Given the description of an element on the screen output the (x, y) to click on. 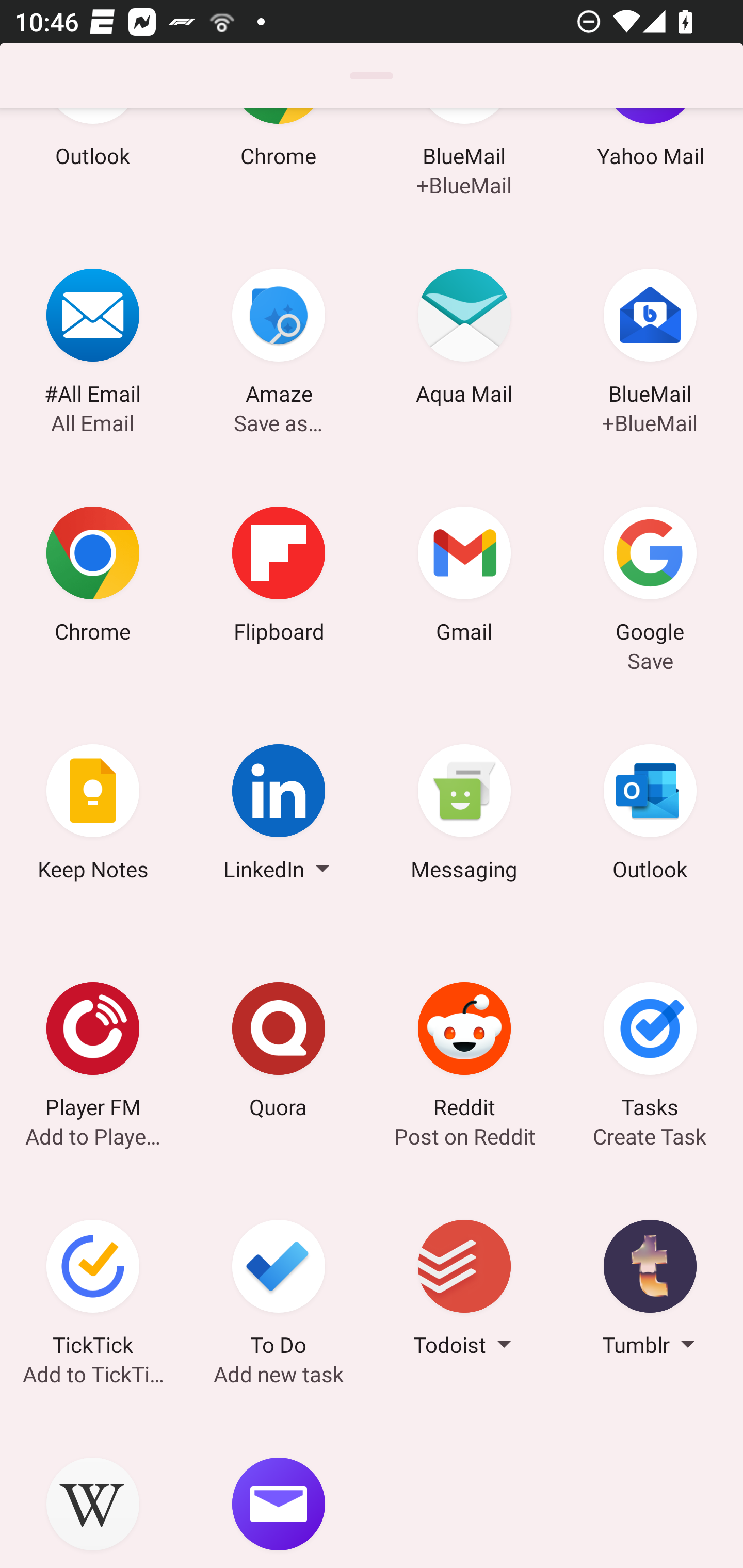
#All Email All Email (92, 340)
Amaze Save as… (278, 340)
Aqua Mail (464, 340)
BlueMail +BlueMail (650, 340)
Chrome (92, 577)
Flipboard (278, 577)
Gmail (464, 577)
Google Save (650, 577)
Keep Notes (92, 815)
LinkedIn (278, 815)
Messaging (464, 815)
Outlook (650, 815)
Player FM Add to Player FM (92, 1053)
Quora (278, 1053)
Reddit Post on Reddit (464, 1053)
Tasks Create Task (650, 1053)
TickTick Add to TickTick (92, 1290)
To Do Add new task (278, 1290)
Todoist (464, 1290)
Tumblr (650, 1290)
Wikipedia (92, 1488)
Yahoo Mail (278, 1488)
